Given the description of an element on the screen output the (x, y) to click on. 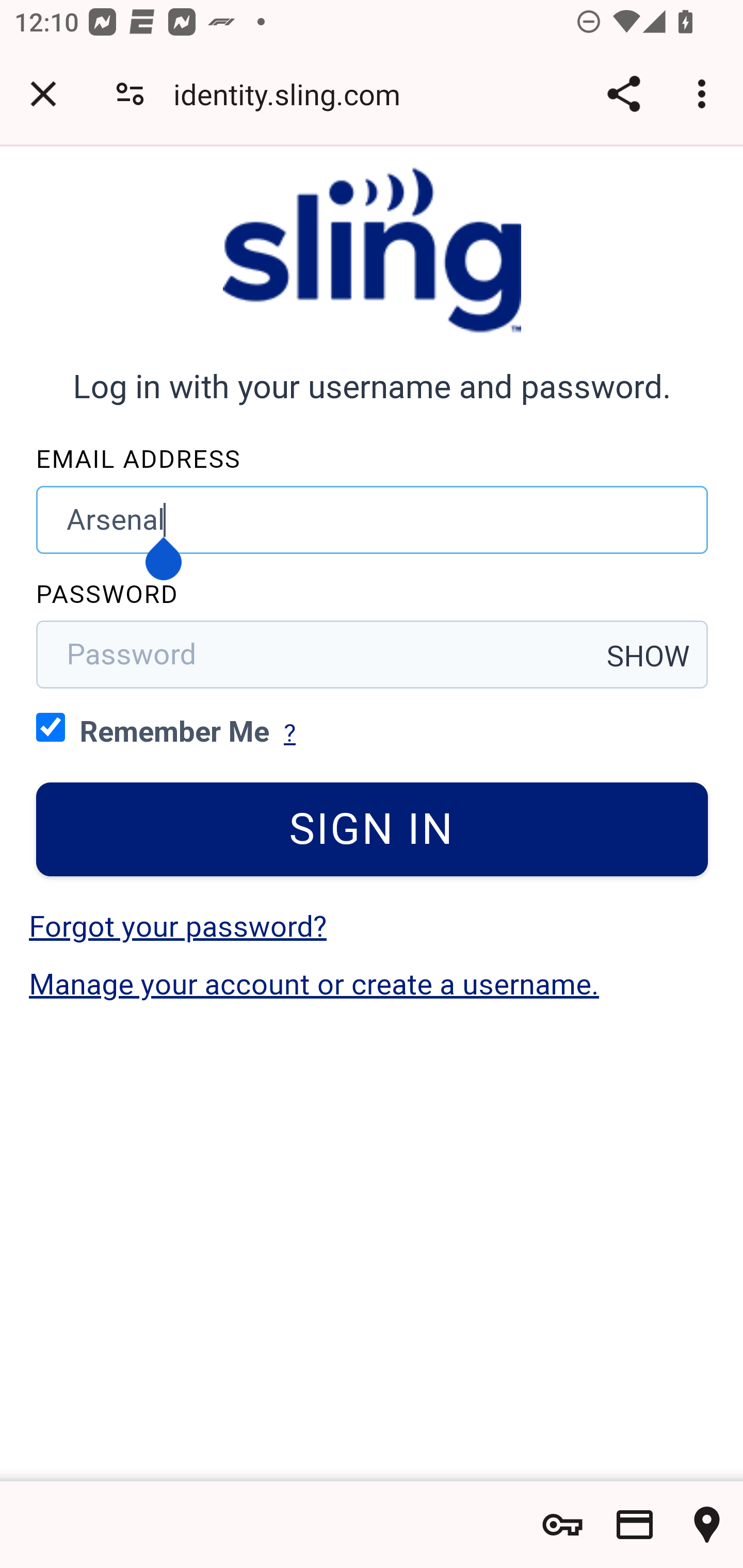
Close tab (43, 93)
Share (623, 93)
Customize and control Google Chrome (705, 93)
Connection is secure (129, 93)
identity.sling.com (294, 93)
Arsenal (372, 518)
SHOW (649, 655)
Remember Me (50, 726)
? (289, 732)
SIGN IN (372, 829)
Forgot your password? (177, 926)
Manage your account or create a username. (313, 984)
Show saved passwords and password options (562, 1524)
Show saved payment methods (634, 1524)
Show saved addresses (706, 1524)
